Given the description of an element on the screen output the (x, y) to click on. 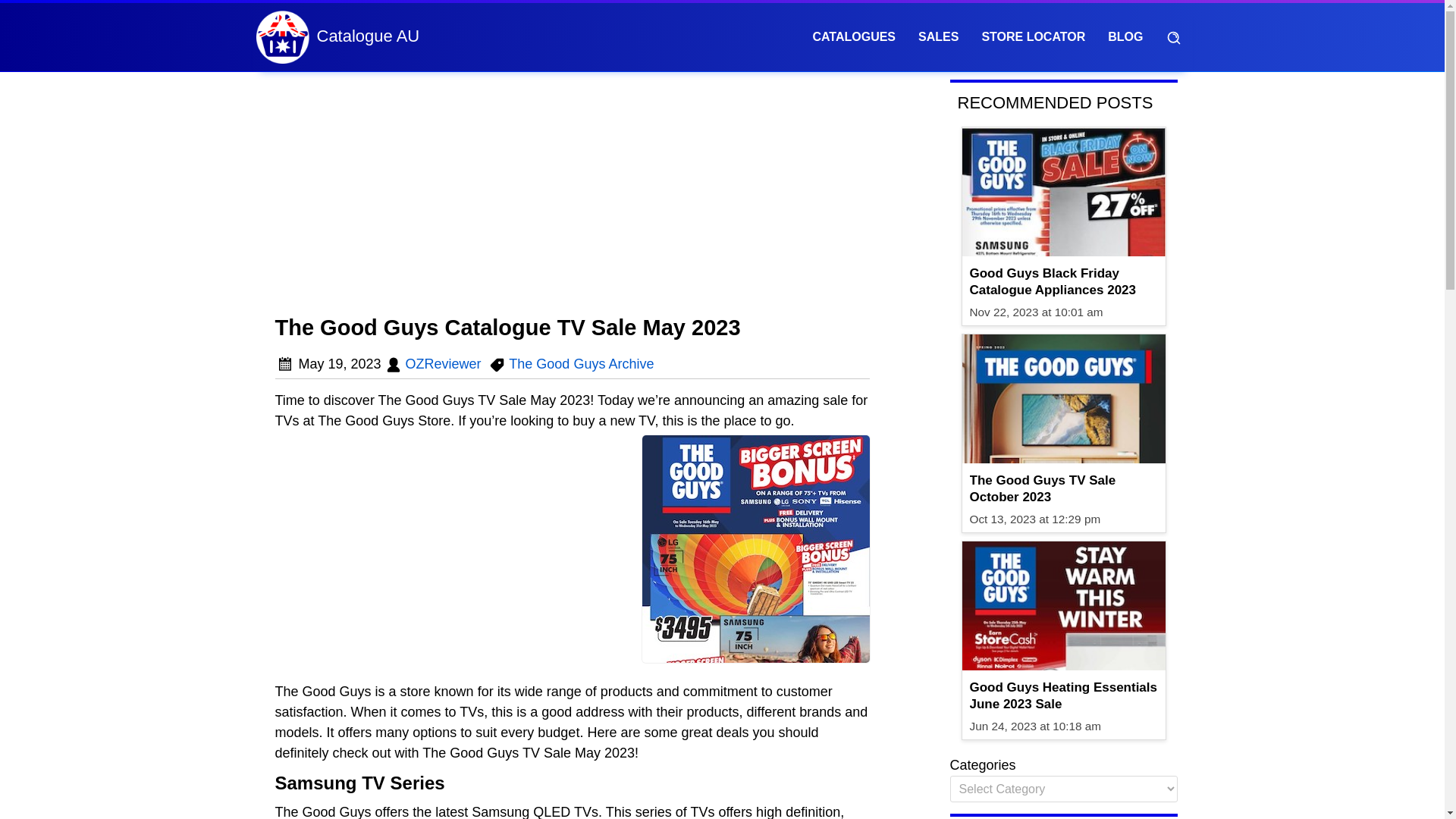
The Good Guys Archive (580, 363)
Advertisement (572, 194)
OZReviewer (443, 363)
Catalogue AU (368, 37)
CATALOGUES (853, 36)
SALES (938, 36)
Good Guys Heating Essentials June 2023 Sale (1065, 695)
STORE LOCATOR (1032, 36)
Good Guys Black Friday Catalogue Appliances 2023 (1065, 281)
The Good Guys TV Sale October 2023 (1065, 489)
